Given the description of an element on the screen output the (x, y) to click on. 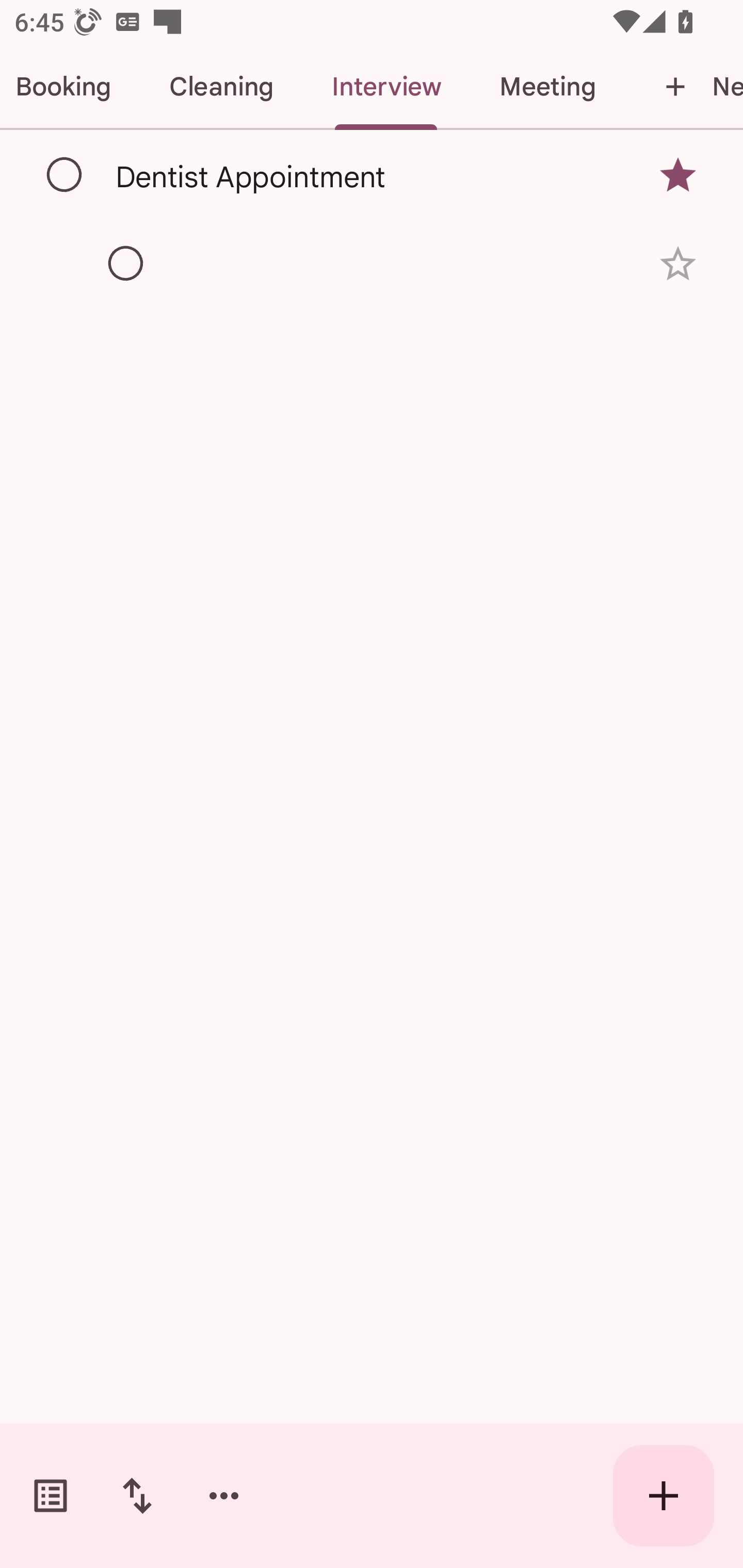
Hotel Booking (69, 86)
Cleaning (220, 86)
Meeting (547, 86)
Remove star (677, 174)
Mark as complete (64, 175)
Add star (677, 264)
Mark as complete (125, 264)
Switch task lists (50, 1495)
Create new task (663, 1495)
Change sort order (136, 1495)
More options (223, 1495)
